Given the description of an element on the screen output the (x, y) to click on. 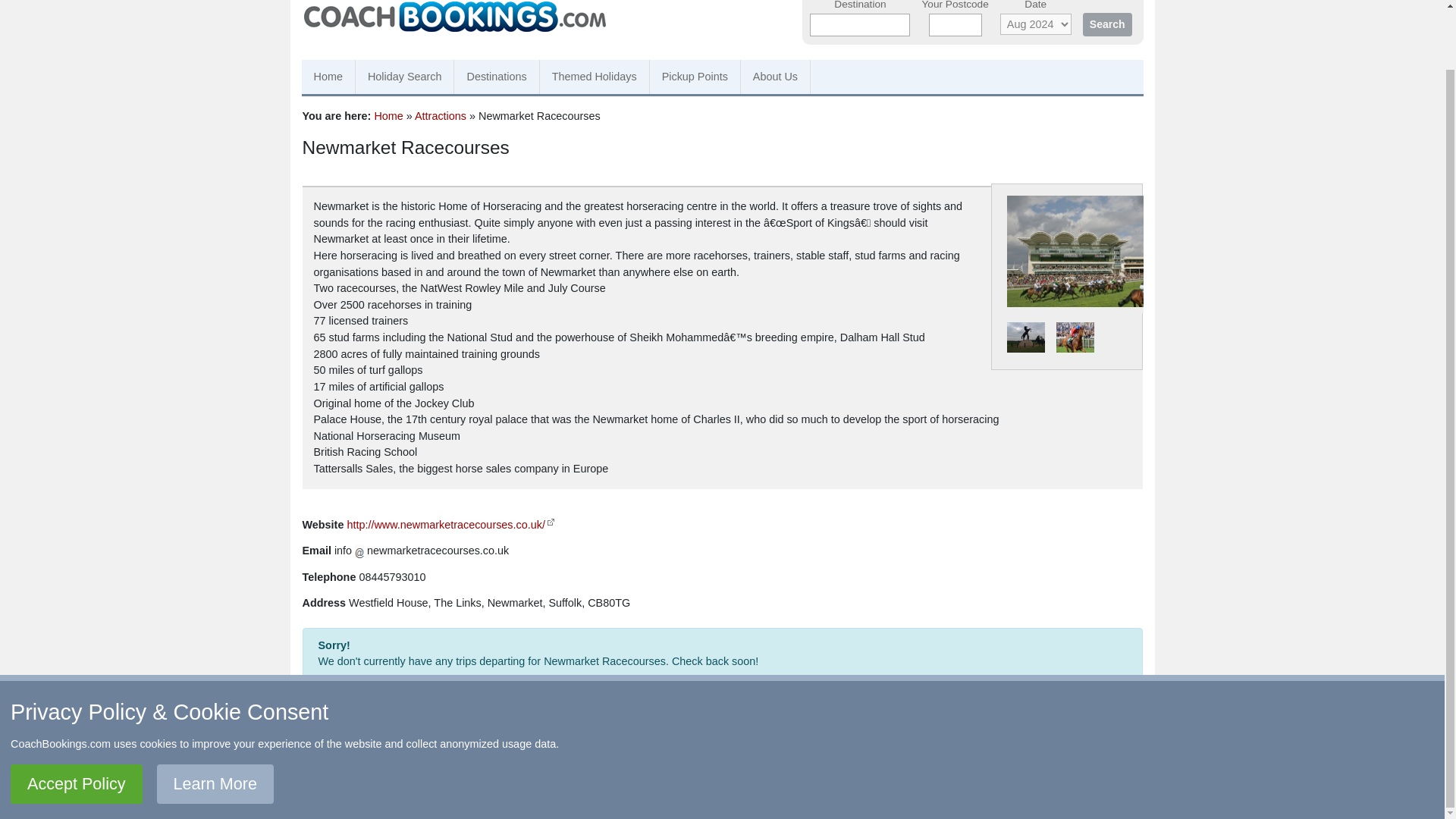
Contact Us (424, 748)
Pickup Points (695, 77)
Holiday Search (404, 77)
Destinations (496, 77)
Return to Top (350, 748)
Home (846, 748)
Home (846, 748)
Privacy Policy - GDPR Compliance (632, 767)
Sitemap (803, 748)
Accept Policy (76, 718)
